Given the description of an element on the screen output the (x, y) to click on. 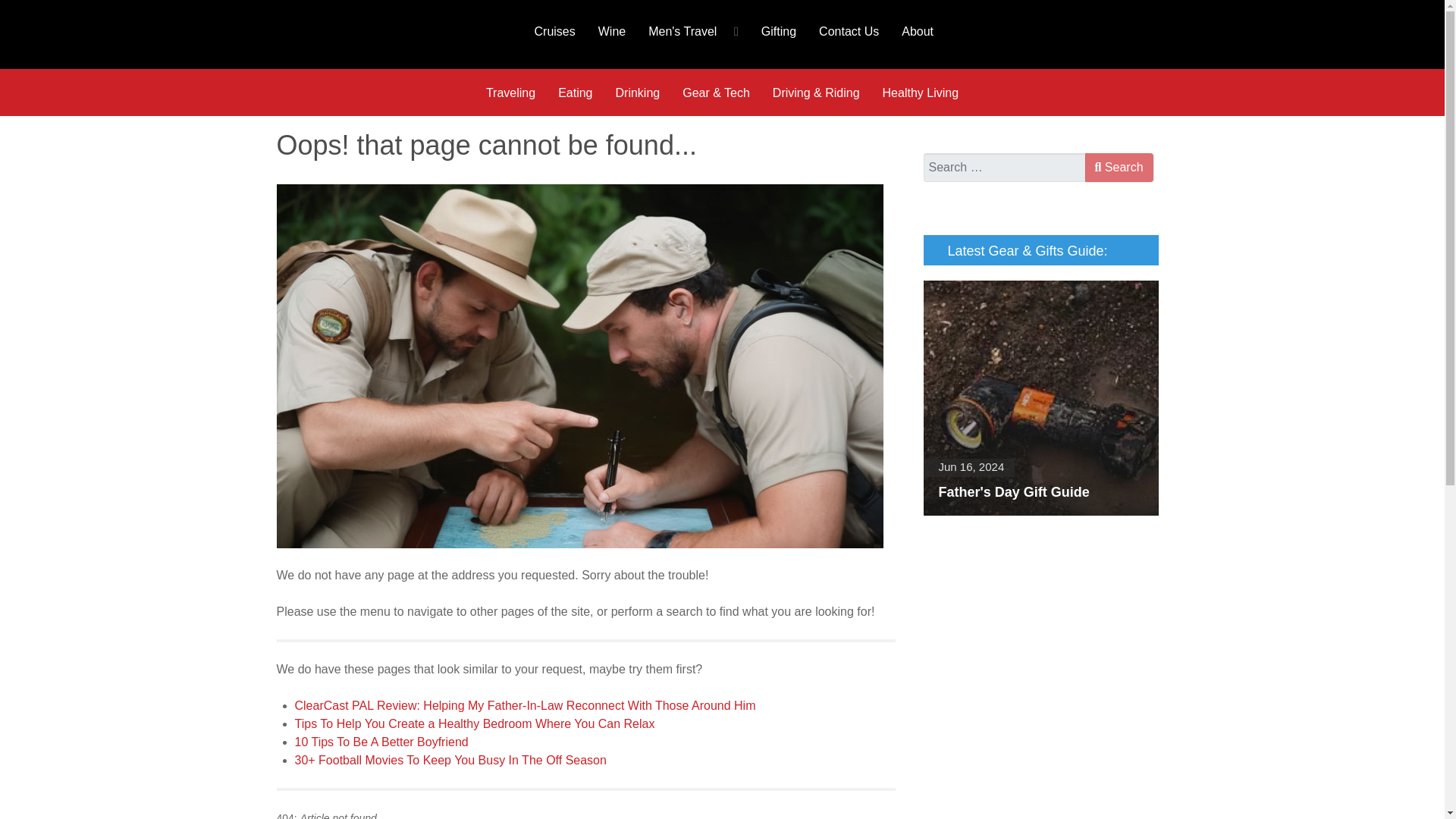
Cruises (554, 30)
Wine (611, 30)
10 Tips To Be A Better Boyfriend (380, 741)
10 Tips To Be A Better Boyfriend (380, 741)
Gifting (778, 30)
Father's Day Gift Guide (1040, 397)
Traveling (510, 92)
About (916, 30)
Contact Us (848, 30)
Healthy Living (920, 92)
Search (1118, 167)
